Given the description of an element on the screen output the (x, y) to click on. 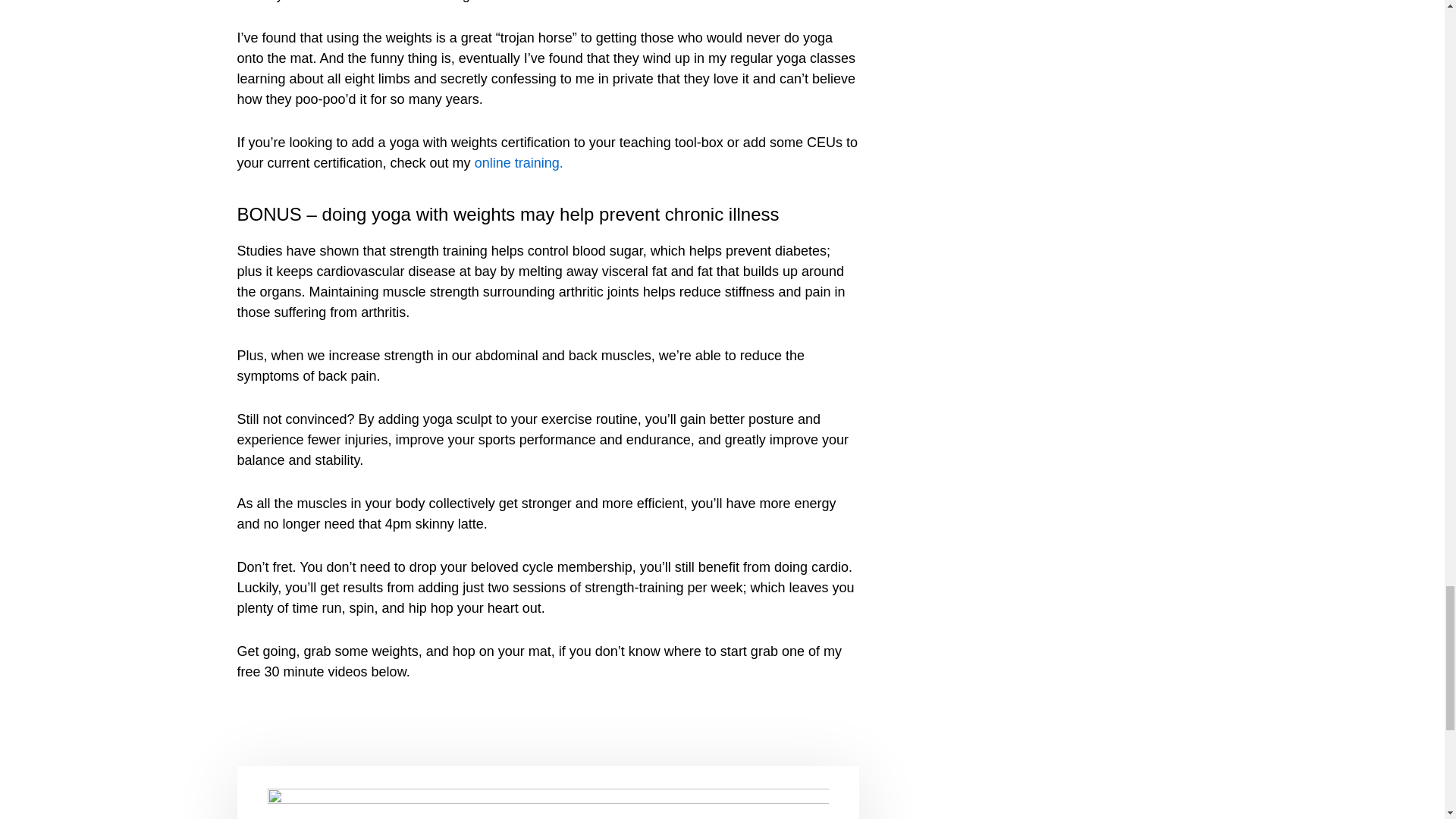
online training. (518, 162)
